Given the description of an element on the screen output the (x, y) to click on. 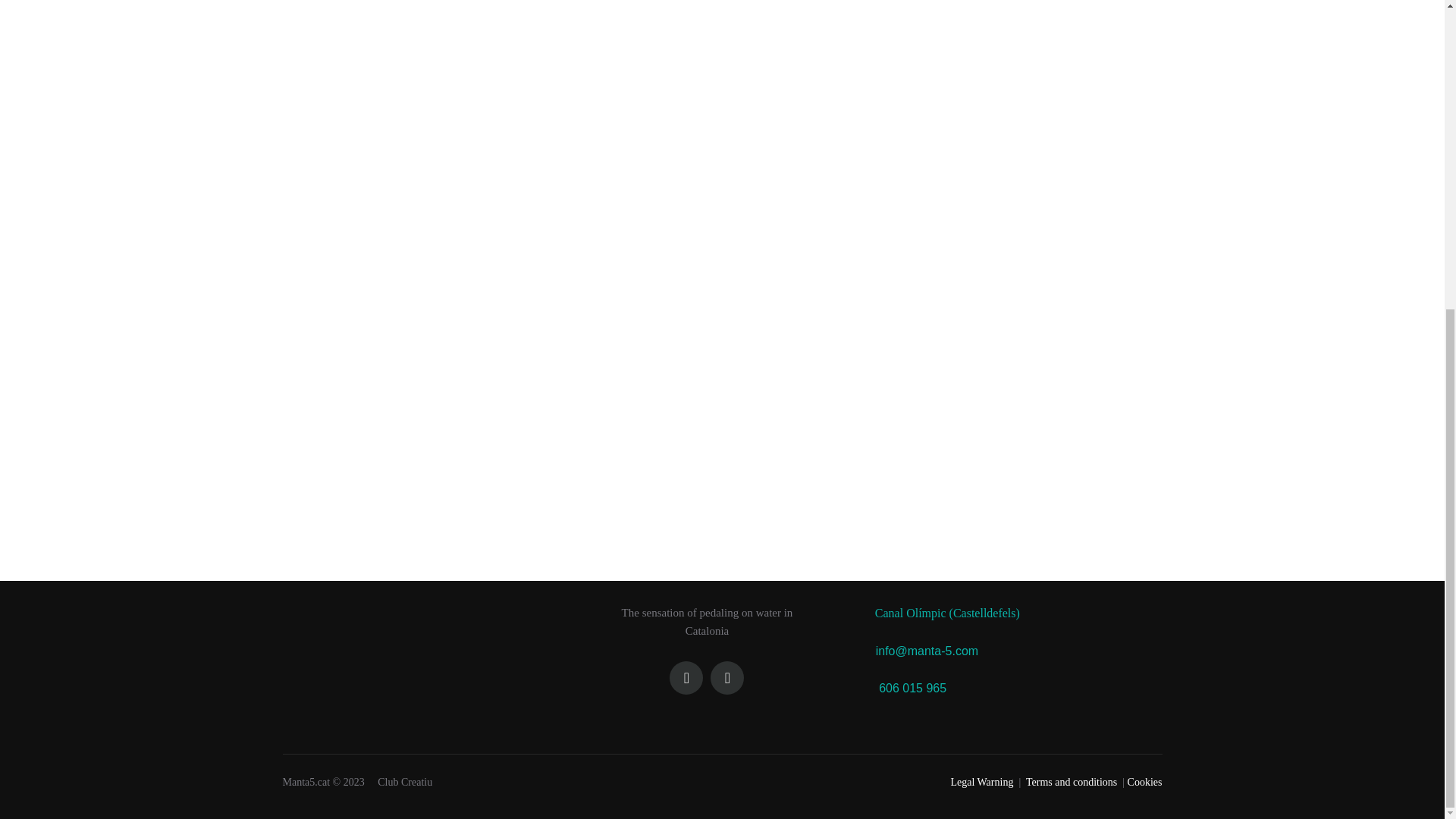
Terms and conditions (1071, 781)
   606 015 965 (907, 687)
Club Creatiu (403, 781)
Cookies (1143, 781)
Legal Warning (981, 781)
